Given the description of an element on the screen output the (x, y) to click on. 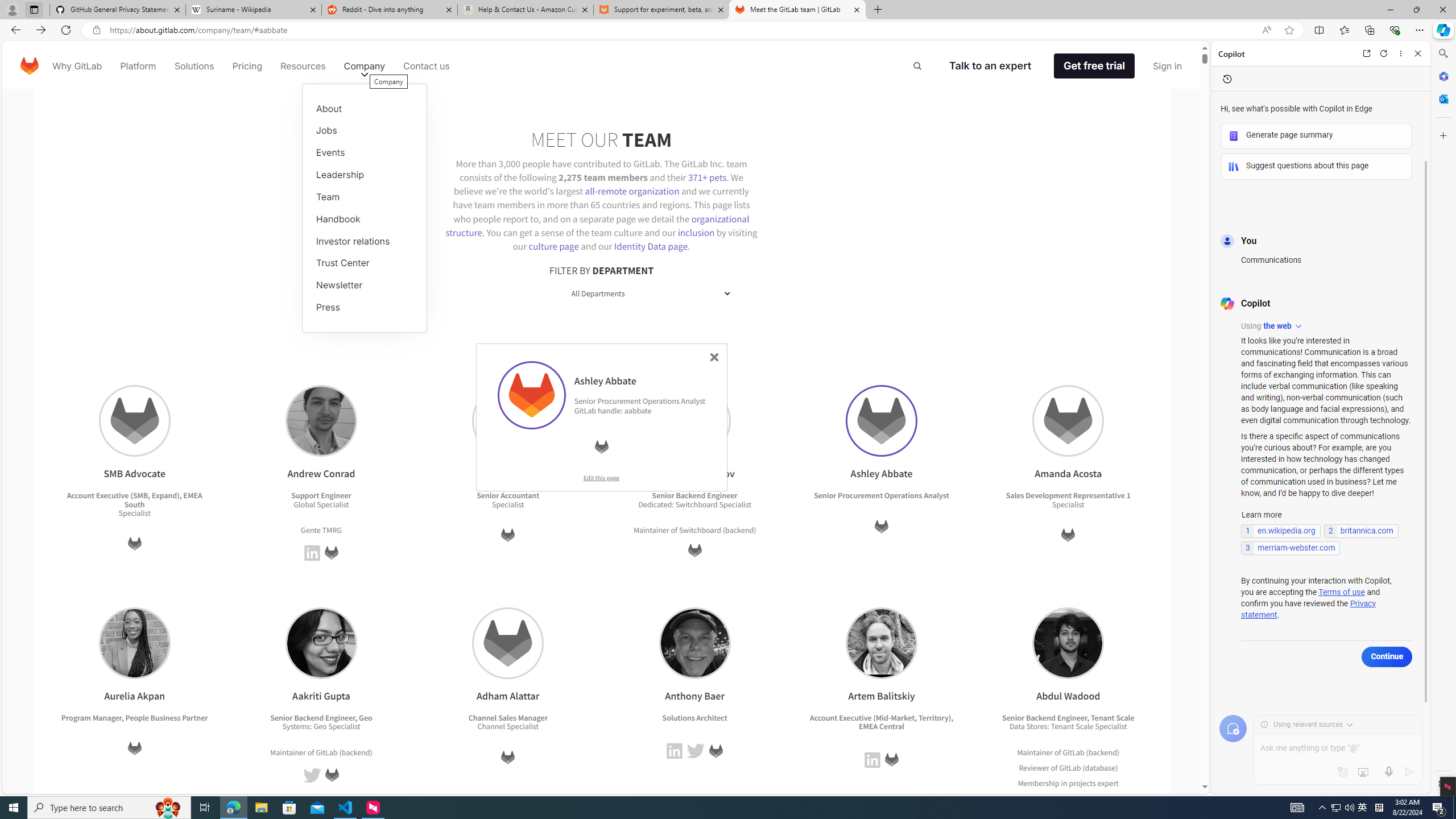
Maintainer (1034, 751)
Membership in projects (1056, 782)
Abdul Wadood (1067, 642)
Specialist (1110, 726)
AutomationID: navigation (601, 64)
Identity Data page (650, 246)
Reviewer (1034, 767)
Sales Development Representative 1 (1068, 495)
Senior Accountant (508, 495)
Anthony Baer (695, 642)
Aurelia Akpan (134, 642)
Contact us (426, 65)
Senior Backend Engineer, Geo (321, 717)
